Given the description of an element on the screen output the (x, y) to click on. 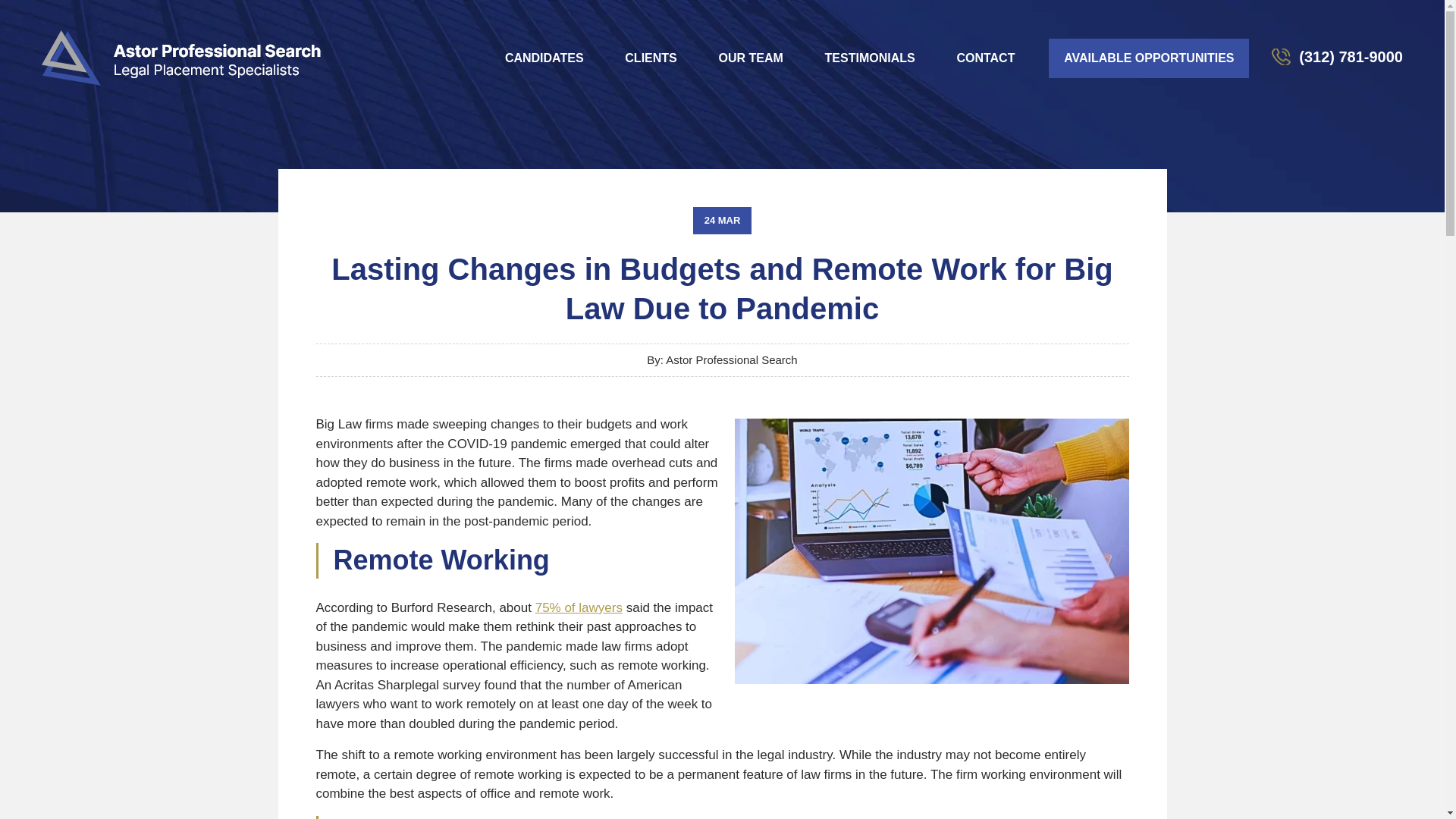
CLIENTS (650, 57)
OUR TEAM (751, 57)
TESTIMONIALS (870, 57)
CANDIDATES (544, 57)
AVAILABLE OPPORTUNITIES (1148, 56)
CONTACT (985, 57)
